Given the description of an element on the screen output the (x, y) to click on. 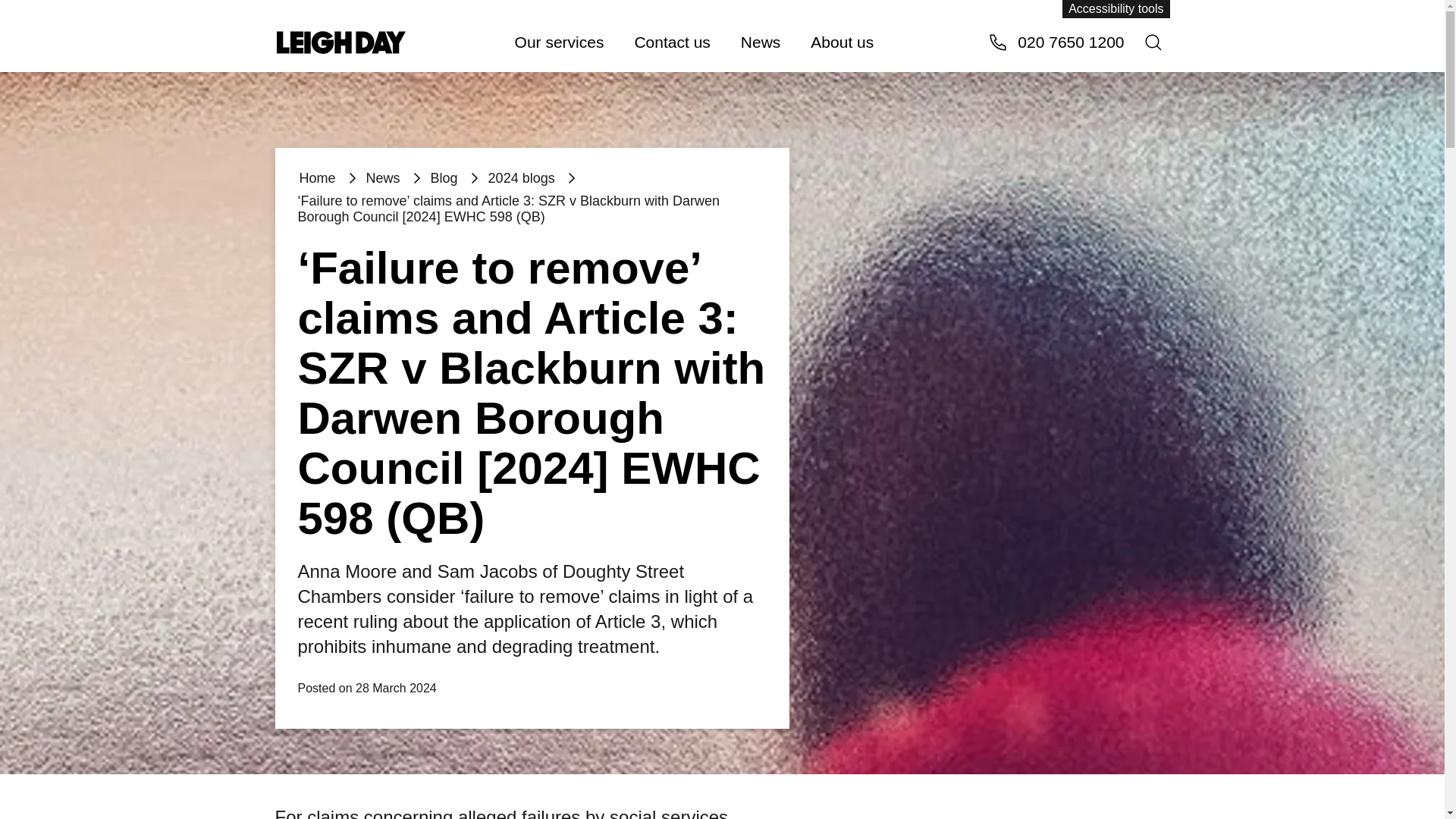
Accessibility tools (1115, 9)
Accessibility tools (1115, 9)
Our services (558, 41)
